Given the description of an element on the screen output the (x, y) to click on. 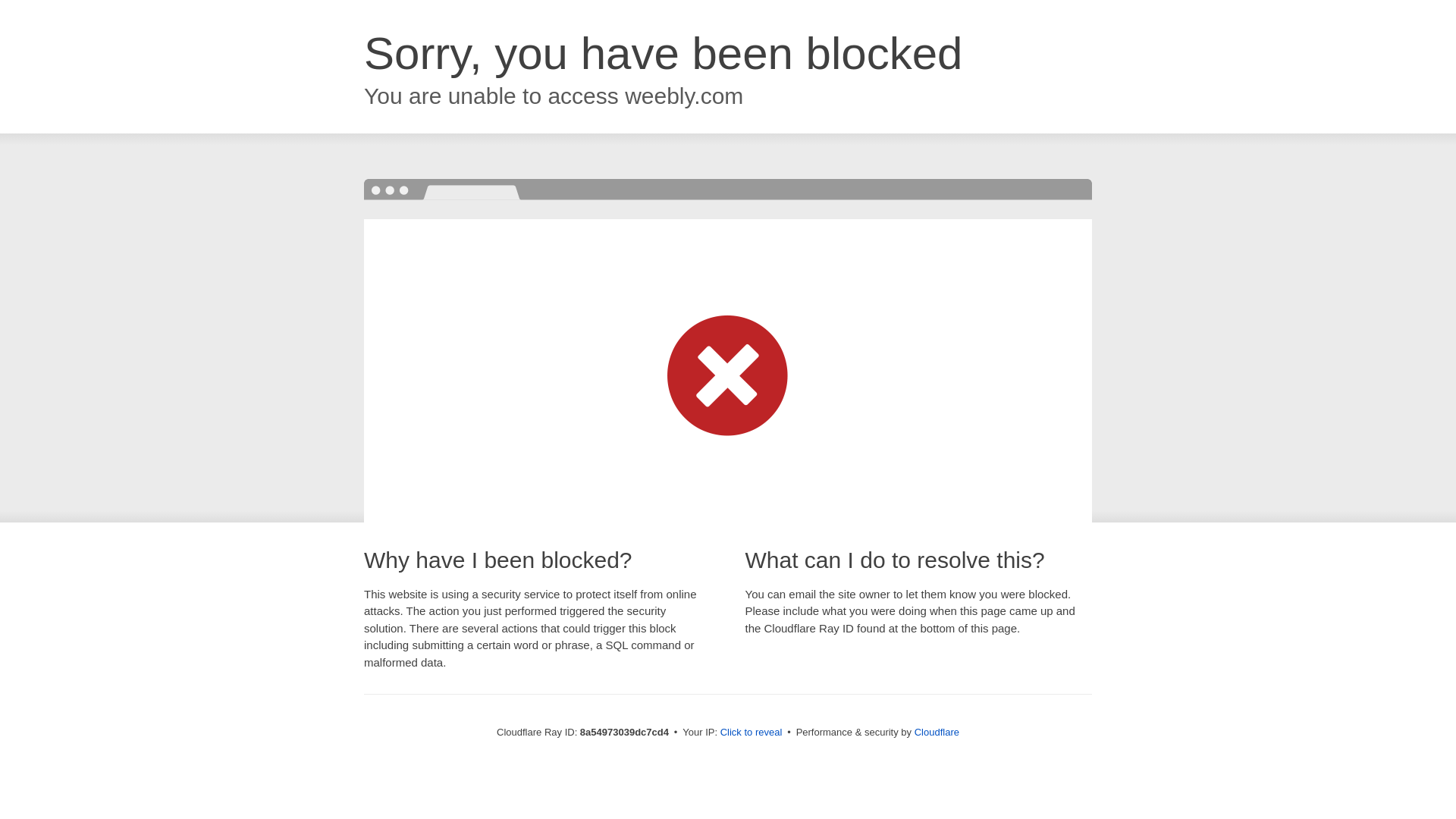
Cloudflare (936, 731)
Click to reveal (751, 732)
